Given the description of an element on the screen output the (x, y) to click on. 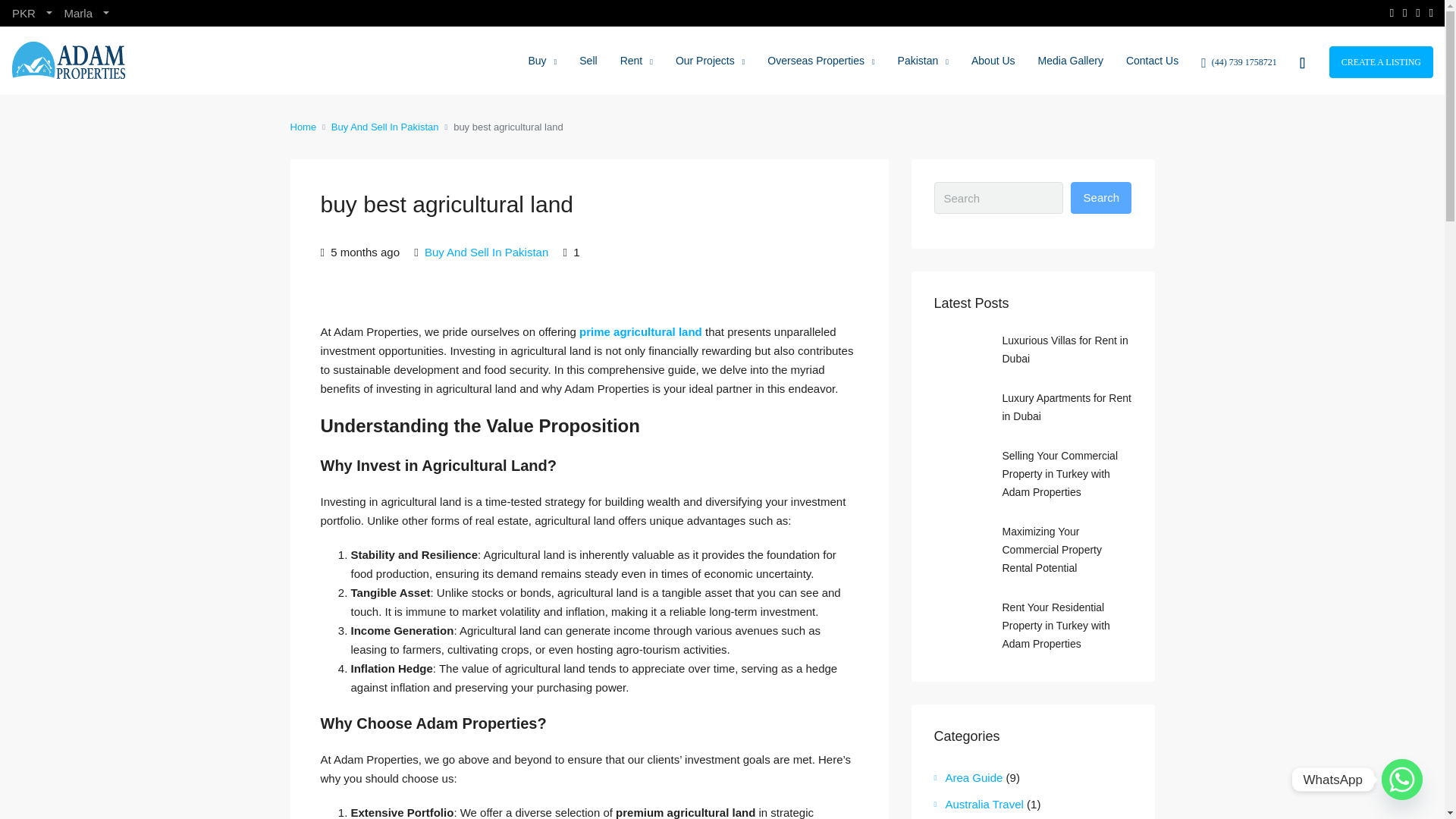
Marla (87, 13)
PKR (31, 13)
